Given the description of an element on the screen output the (x, y) to click on. 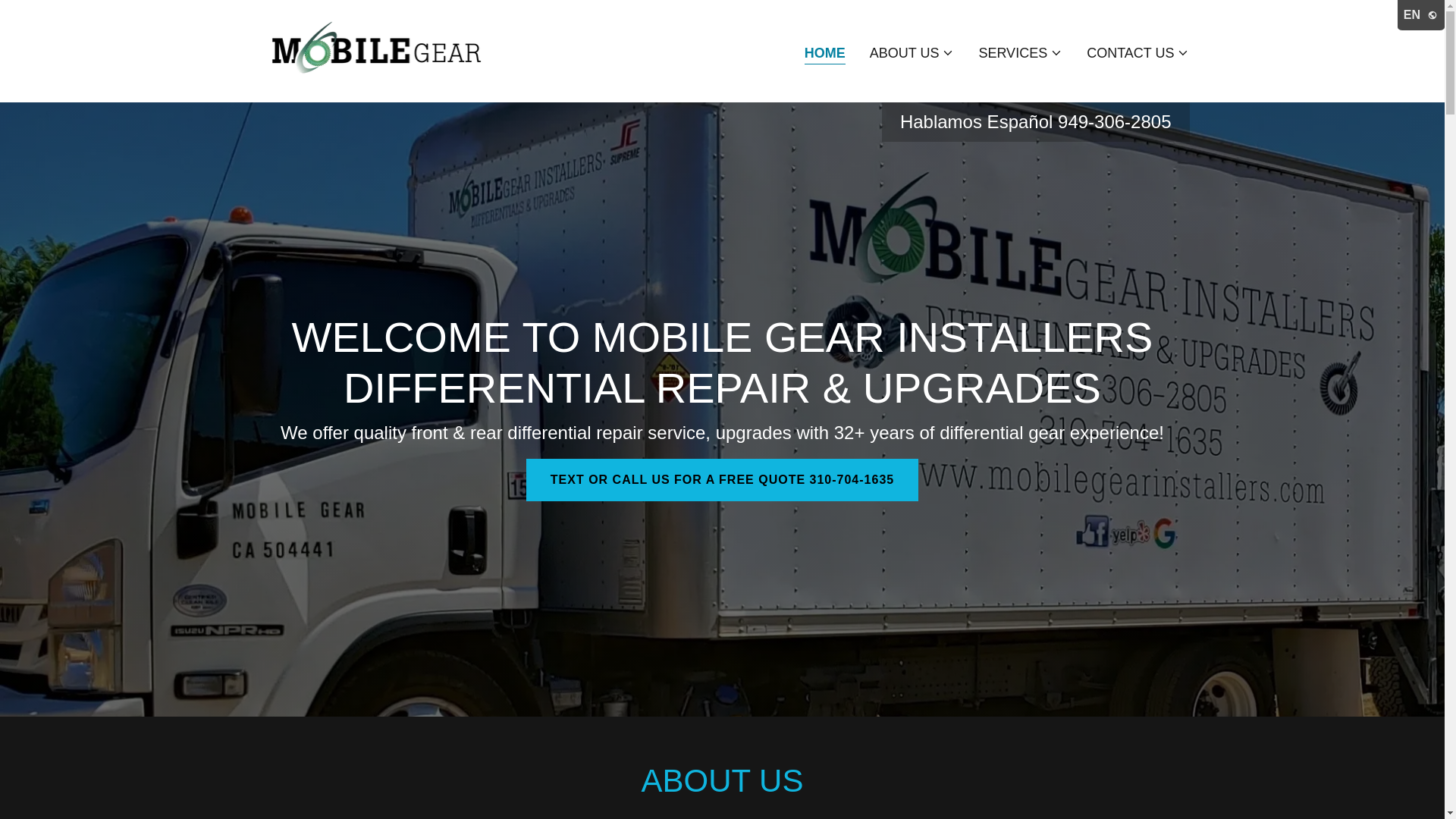
HOME (825, 54)
TEXT OR CALL US FOR A FREE QUOTE 310-704-1635 (721, 479)
ABOUT US (912, 53)
CONTACT US (1137, 53)
949-306-2805 (1114, 121)
SERVICES (1020, 53)
